Given the description of an element on the screen output the (x, y) to click on. 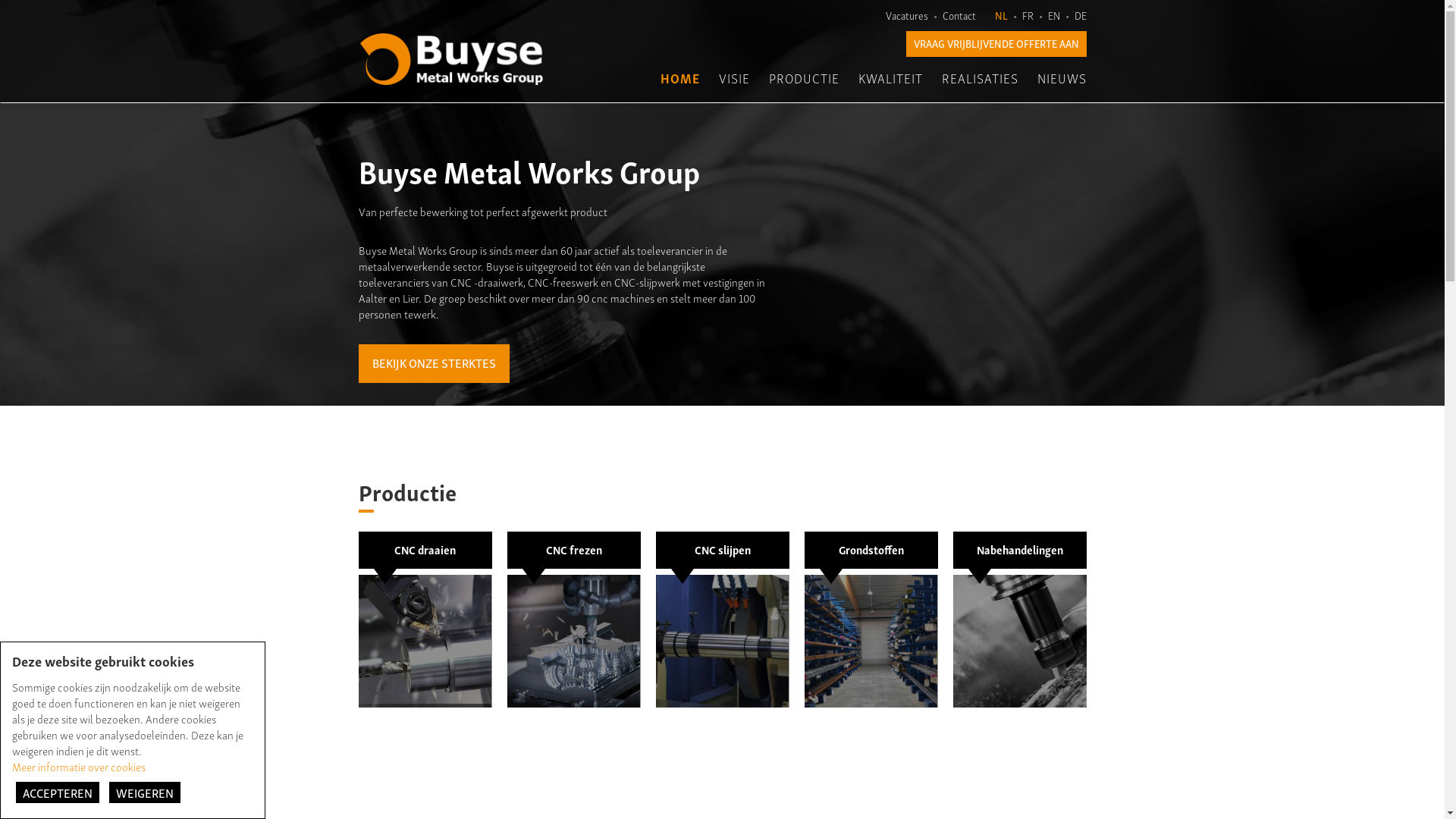
CNC draaien Element type: text (424, 619)
Contact Element type: text (958, 14)
Meer informatie over cookies Element type: text (78, 765)
VISIE Element type: text (733, 77)
NIEUWS Element type: text (1061, 77)
REALISATIES Element type: text (979, 77)
PRODUCTIE Element type: text (803, 77)
HOME Element type: text (679, 77)
VRAAG VRIJBLIJVENDE OFFERTE AAN Element type: text (995, 43)
DE Element type: text (1079, 14)
WEIGEREN Element type: text (144, 792)
Nabehandelingen Element type: text (1018, 619)
Buyse - Metal Works Group Element type: hover (450, 59)
ACCEPTEREN Element type: text (57, 792)
Vacatures Element type: text (906, 14)
NL Element type: text (1000, 14)
CNC slijpen Element type: text (721, 619)
KWALITEIT Element type: text (890, 77)
EN Element type: text (1054, 14)
CNC frezen Element type: text (573, 619)
FR Element type: text (1027, 14)
Grondstoffen Element type: text (870, 619)
BEKIJK ONZE STERKTES Element type: text (432, 363)
